Given the description of an element on the screen output the (x, y) to click on. 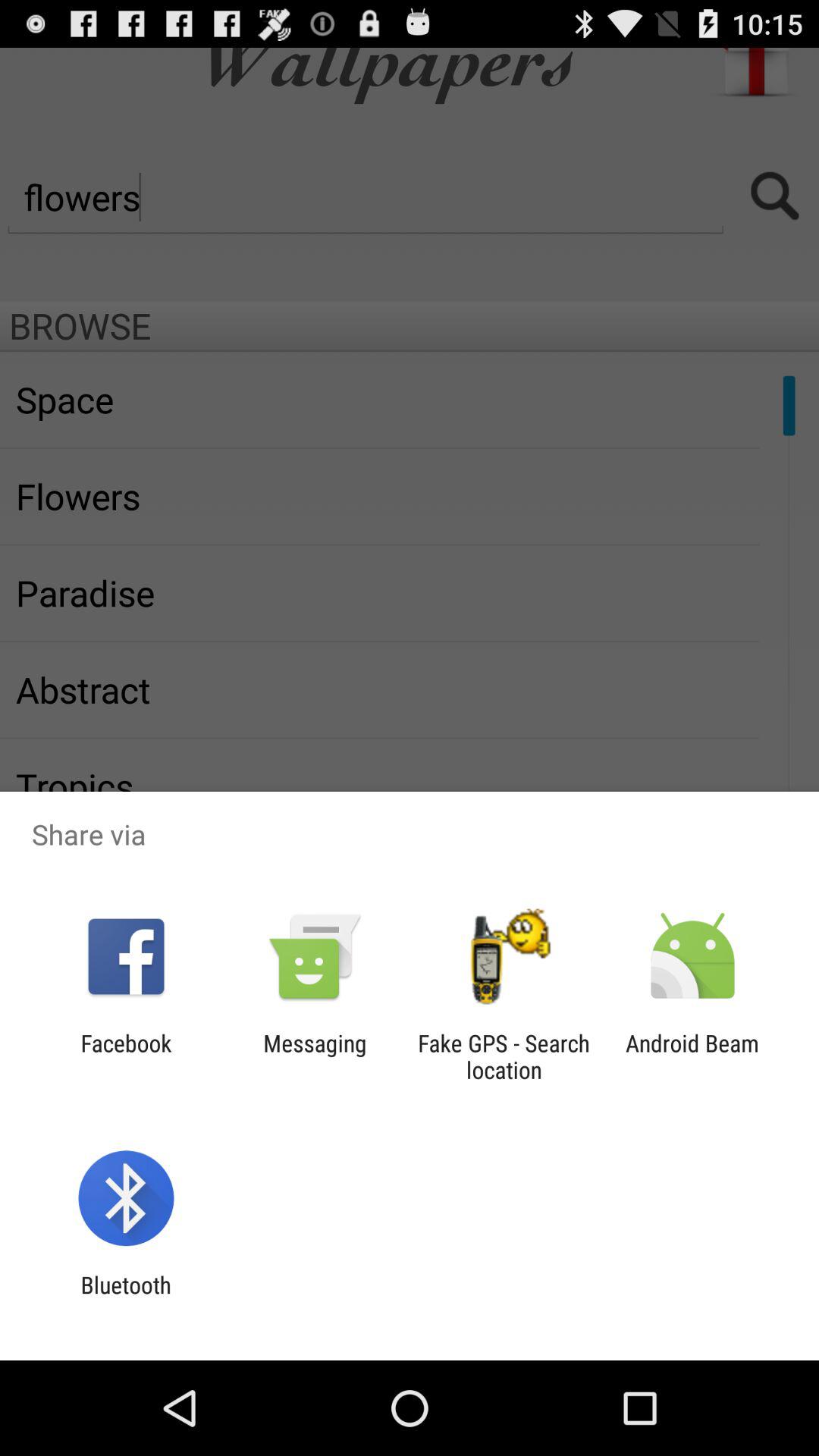
turn off the item to the left of messaging item (125, 1056)
